Given the description of an element on the screen output the (x, y) to click on. 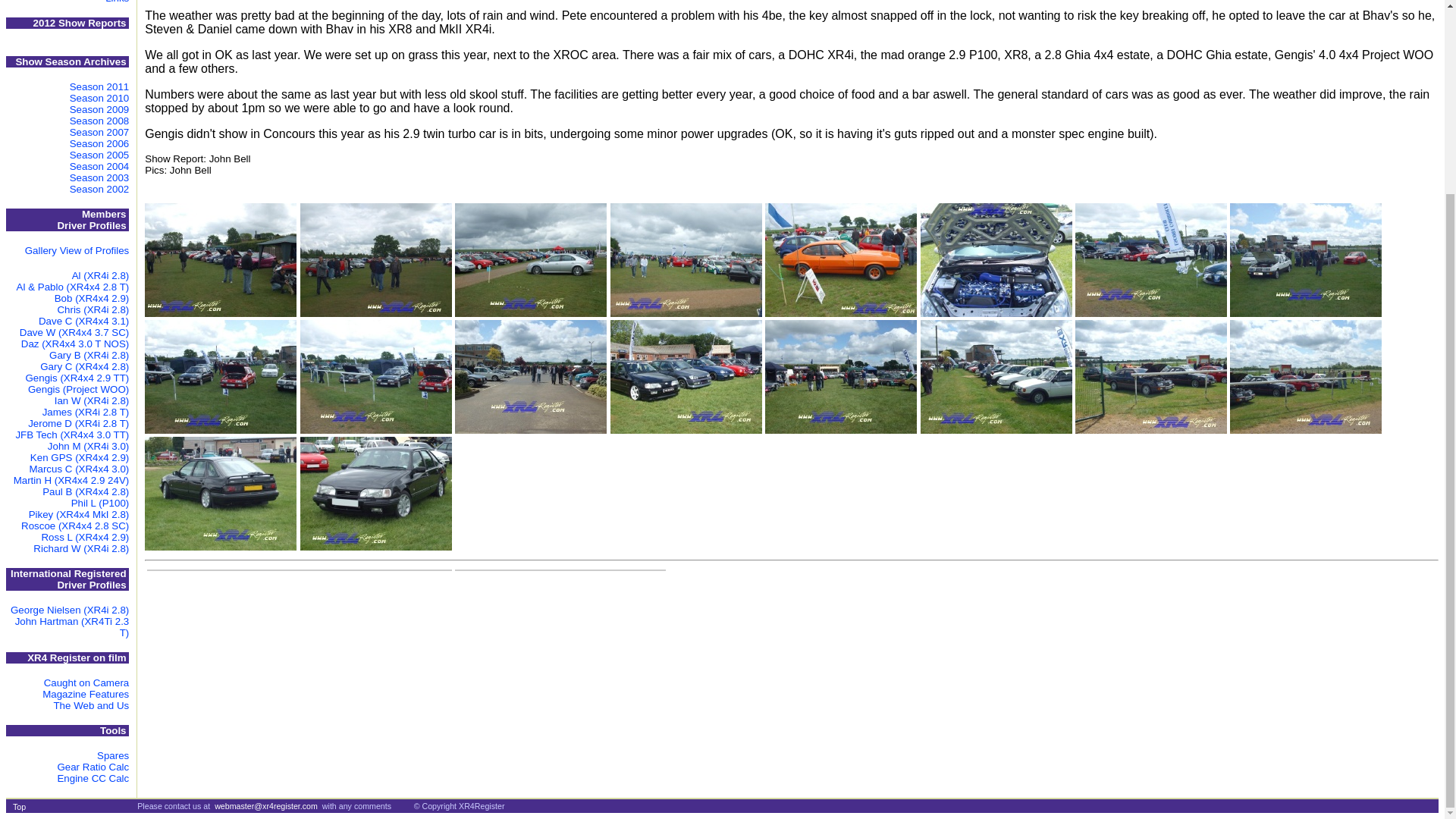
Gallery View of Profiles (76, 250)
Season 2005 (99, 154)
Season 2008 (99, 120)
Season 2007 (99, 132)
Season 2002 (99, 188)
Season 2006 (99, 143)
Season 2003 (99, 177)
Season 2009 (99, 109)
Season 2011 (99, 86)
Season 2010 (99, 98)
Season 2004 (99, 165)
Links (116, 2)
